Given the description of an element on the screen output the (x, y) to click on. 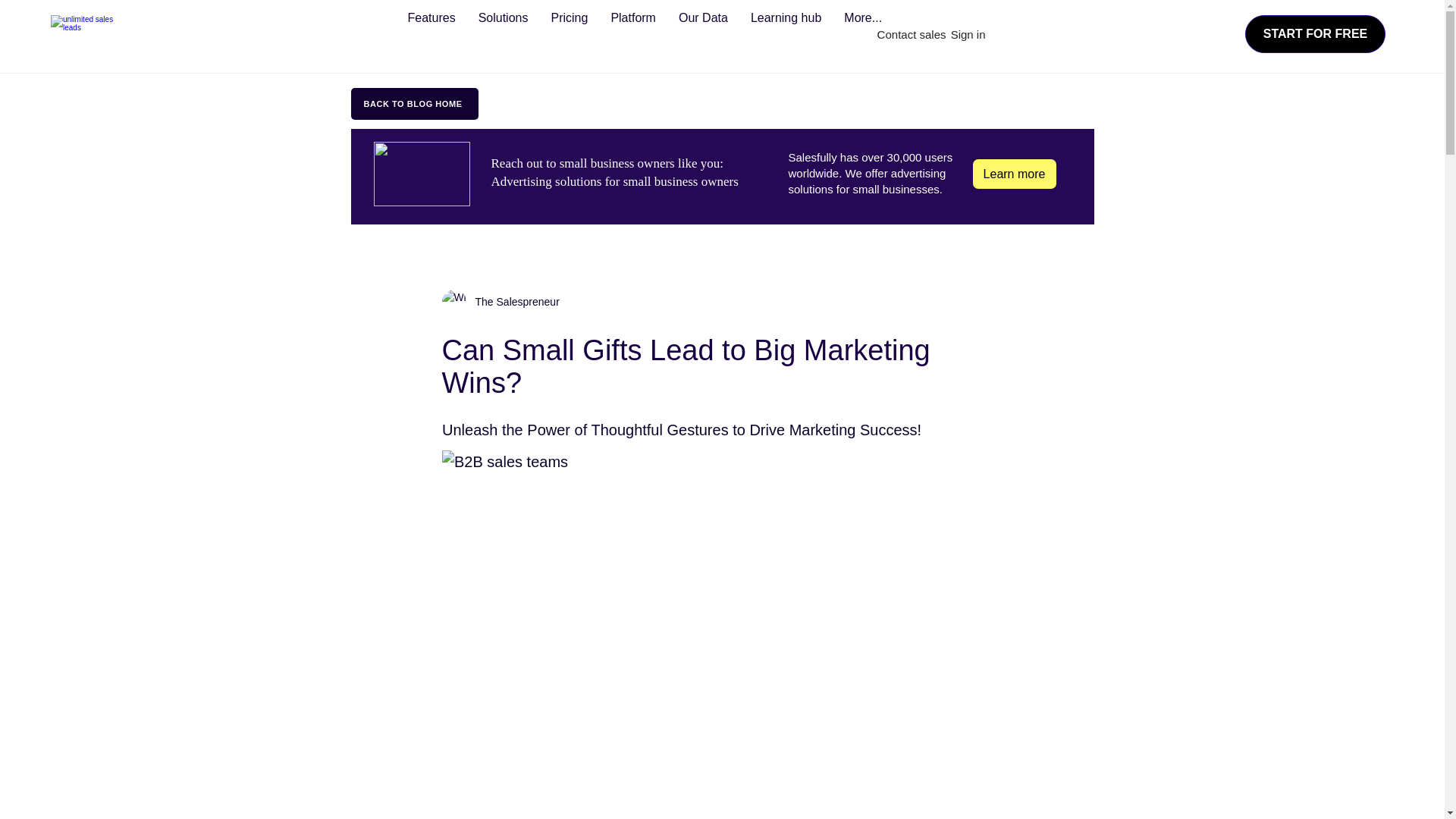
The Salespreneur (512, 302)
Features (430, 31)
Pricing (568, 31)
Learn more (1013, 173)
START FOR FREE (1315, 34)
The Salespreneur (500, 301)
Sign in (967, 33)
BACK TO BLOG HOME (413, 103)
Contact sales (911, 33)
Learning hub (785, 31)
